Given the description of an element on the screen output the (x, y) to click on. 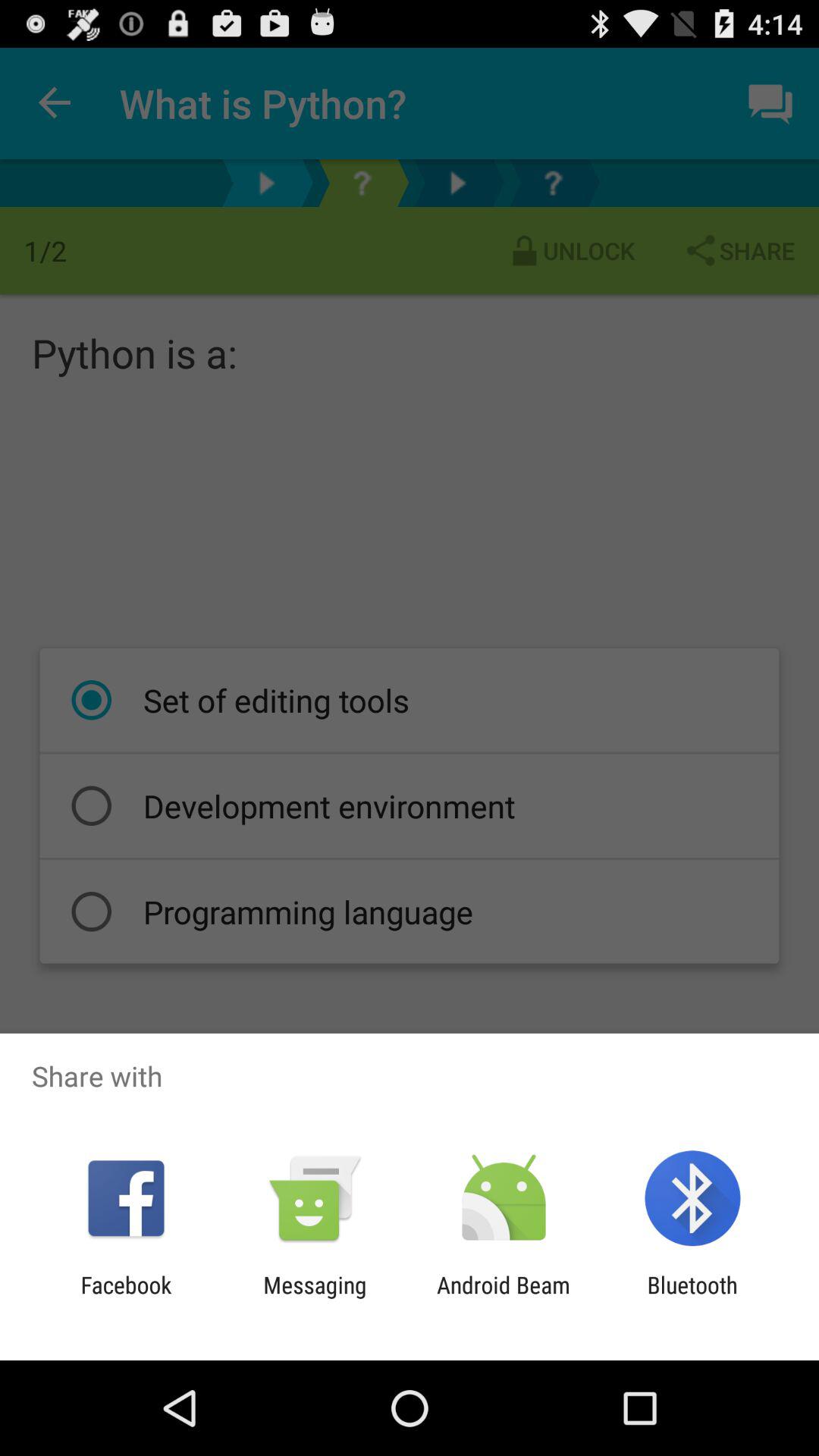
turn on app to the right of the android beam app (692, 1298)
